Given the description of an element on the screen output the (x, y) to click on. 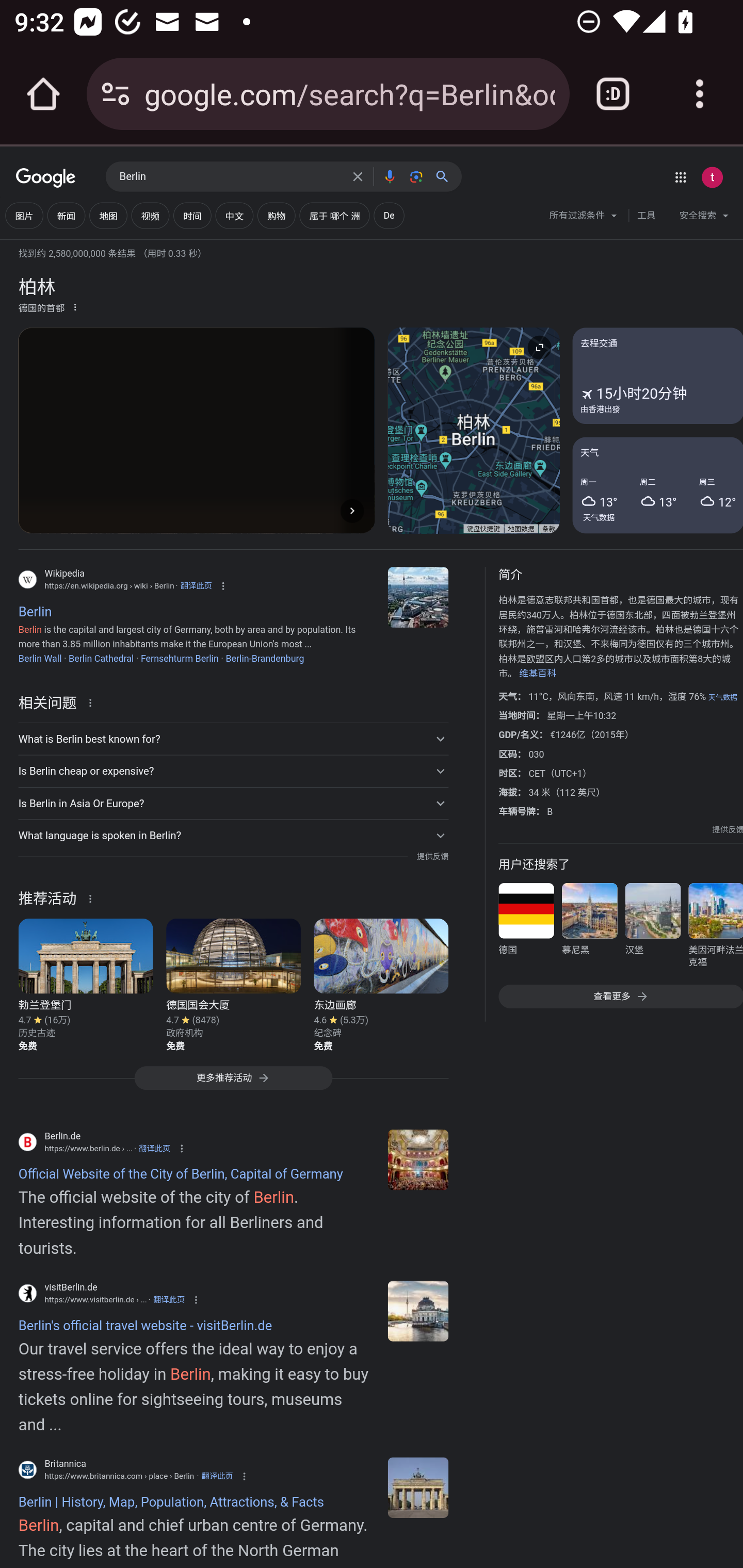
Open the home page (43, 93)
Connection is secure (115, 93)
Switch or close tabs (612, 93)
Customize and control Google Chrome (699, 93)
清除 (357, 176)
按语音搜索 (389, 176)
按图搜索 (415, 176)
搜索 (446, 176)
Google 应用 (680, 176)
Google 账号： test appium (testappium002@gmail.com) (712, 176)
Google (45, 178)
Berlin (229, 177)
图片 (24, 215)
新闻 (65, 215)
地图 (107, 215)
视频 (149, 215)
添加“时间” 时间 (191, 215)
添加“中文” 中文 (234, 215)
购物 (276, 215)
添加“属于 哪个 洲” 属于 哪个 洲 (334, 215)
添加“De” De (388, 215)
所有过滤条件 (583, 217)
工具 (646, 215)
安全搜索 (703, 217)
更多选项 (74, 306)
去程交通 15小时20分钟 乘坐飞机 由香港出發 (657, 375)
展开地图 (539, 346)
天气 周一 高温 13 度 周二 高温 13 度 周三 高温 12 度 (657, 484)
下一张图片 (352, 510)
天气数据 (599, 516)
Berlin (417, 597)
翻译此页 (195, 585)
Berlin Wall (39, 658)
Berlin Cathedral (101, 658)
Fernsehturm Berlin (179, 658)
Berlin-Brandenburg (264, 658)
维基百科 (537, 672)
天气数据 (722, 697)
关于这条结果的详细信息 (93, 701)
What is Berlin best known for? (232, 738)
Is Berlin cheap or expensive? (232, 770)
Is Berlin in Asia Or Europe? (232, 803)
What language is spoken in Berlin? (232, 835)
提供反馈 (727, 829)
提供反馈 (432, 856)
德国 (526, 927)
慕尼黑 (588, 927)
汉堡 (652, 927)
美因河畔法兰克福 (715, 927)
关于这条结果的详细信息 (93, 897)
查看更多 查看更多 查看更多 (620, 996)
更多推荐活动 (232, 1082)
en (417, 1159)
翻译此页 (154, 1148)
en (417, 1310)
翻译此页 (169, 1299)
Berlin (417, 1486)
翻译此页 (216, 1476)
